Given the description of an element on the screen output the (x, y) to click on. 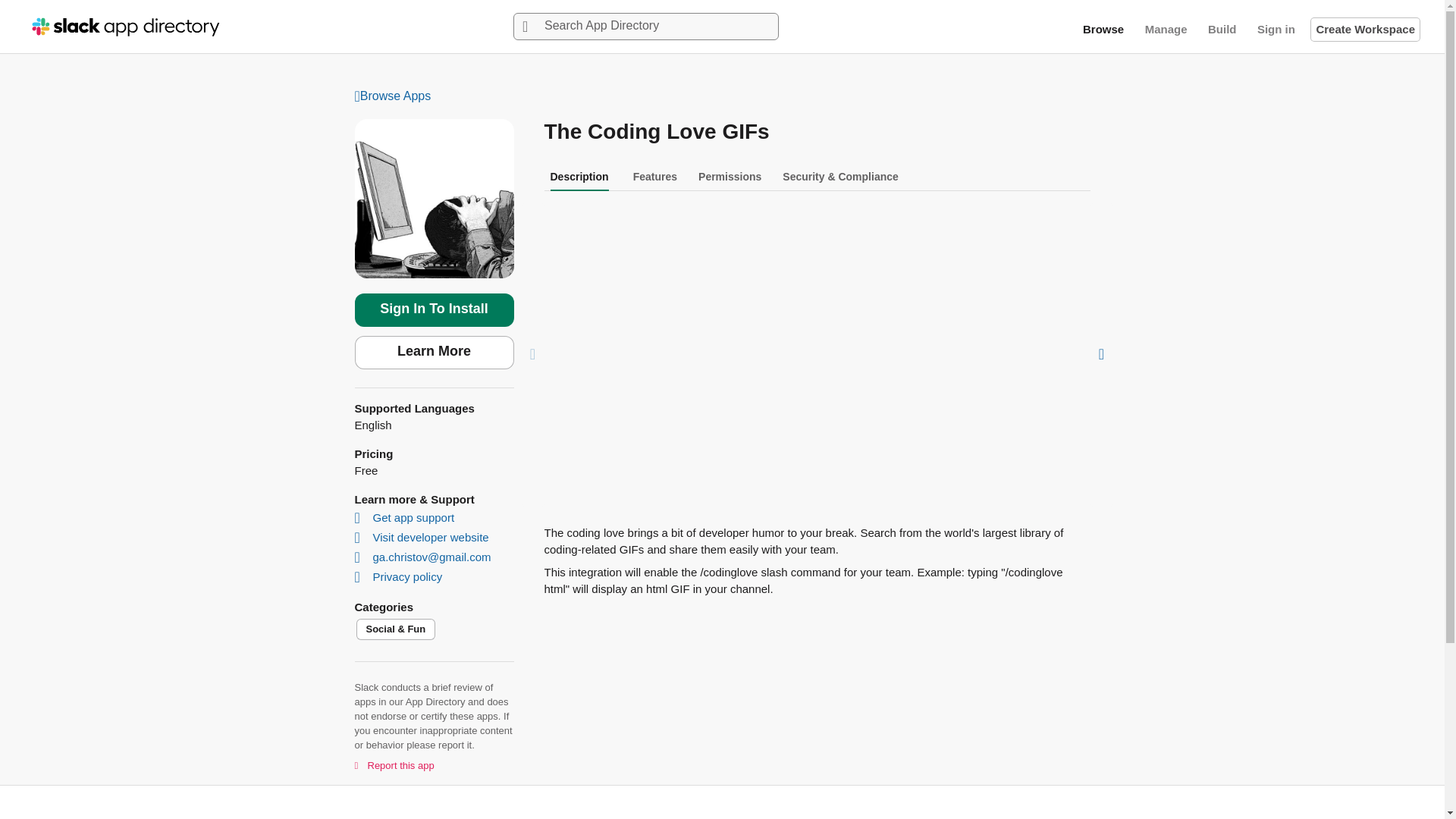
Permissions (729, 176)
Sign In To Install (434, 309)
Description (579, 176)
Sign in (1276, 29)
Browse (1103, 29)
Features (655, 176)
Visit developer website (423, 536)
Learn More (434, 352)
Create Workspace (1365, 29)
Build (1221, 29)
Manage (1166, 29)
Privacy policy (400, 576)
Report this app (394, 763)
Get app support (406, 517)
Browse Apps (722, 96)
